Given the description of an element on the screen output the (x, y) to click on. 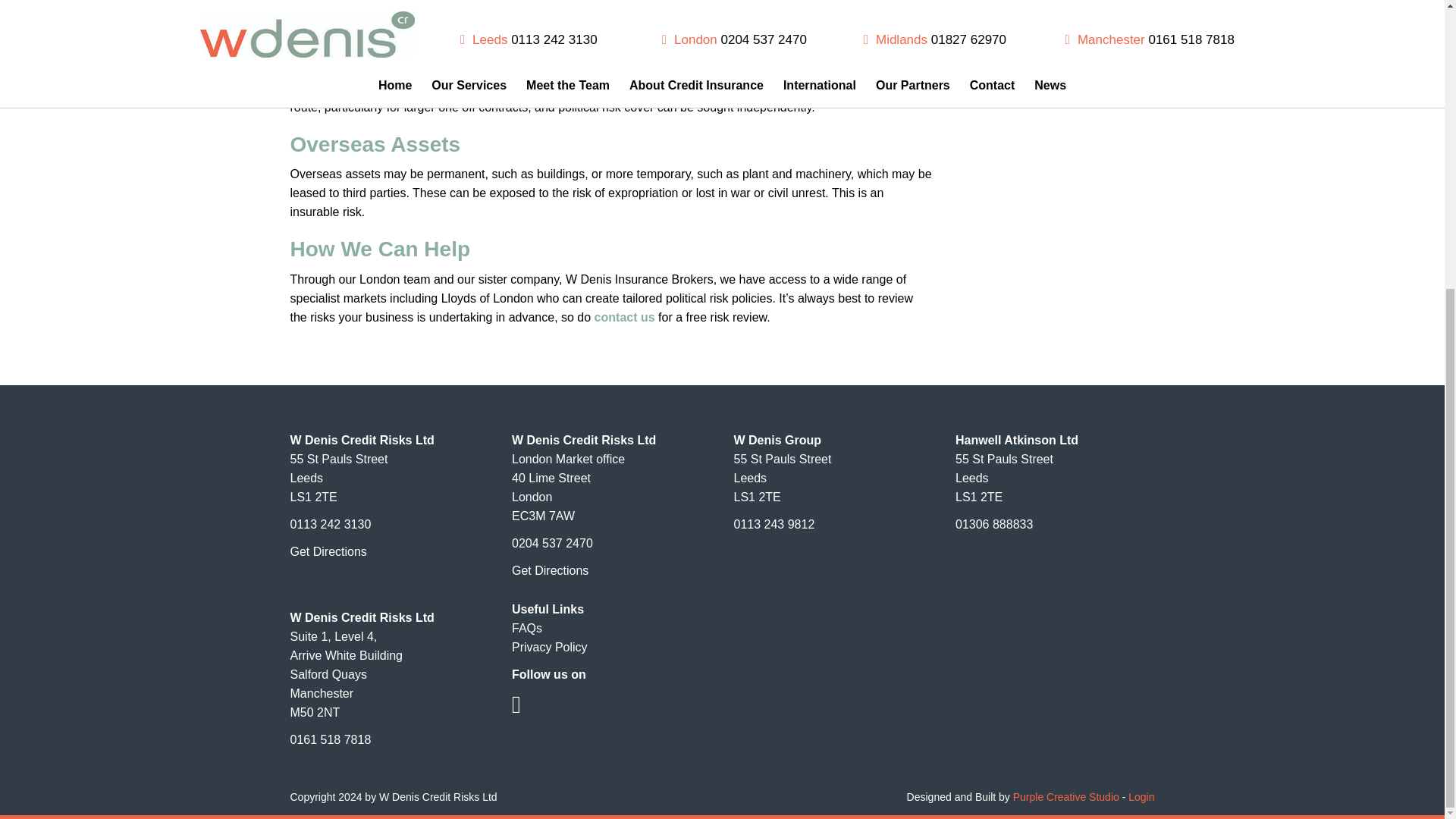
Get Directions (327, 551)
Privacy Policy (550, 646)
Login (1141, 797)
Login (1141, 797)
Purple Creative Studio (1066, 797)
contact us (624, 317)
W Denis Group (777, 440)
Get Directions (550, 570)
Hanwell Atkinson Ltd (1016, 440)
FAQs (526, 627)
